Given the description of an element on the screen output the (x, y) to click on. 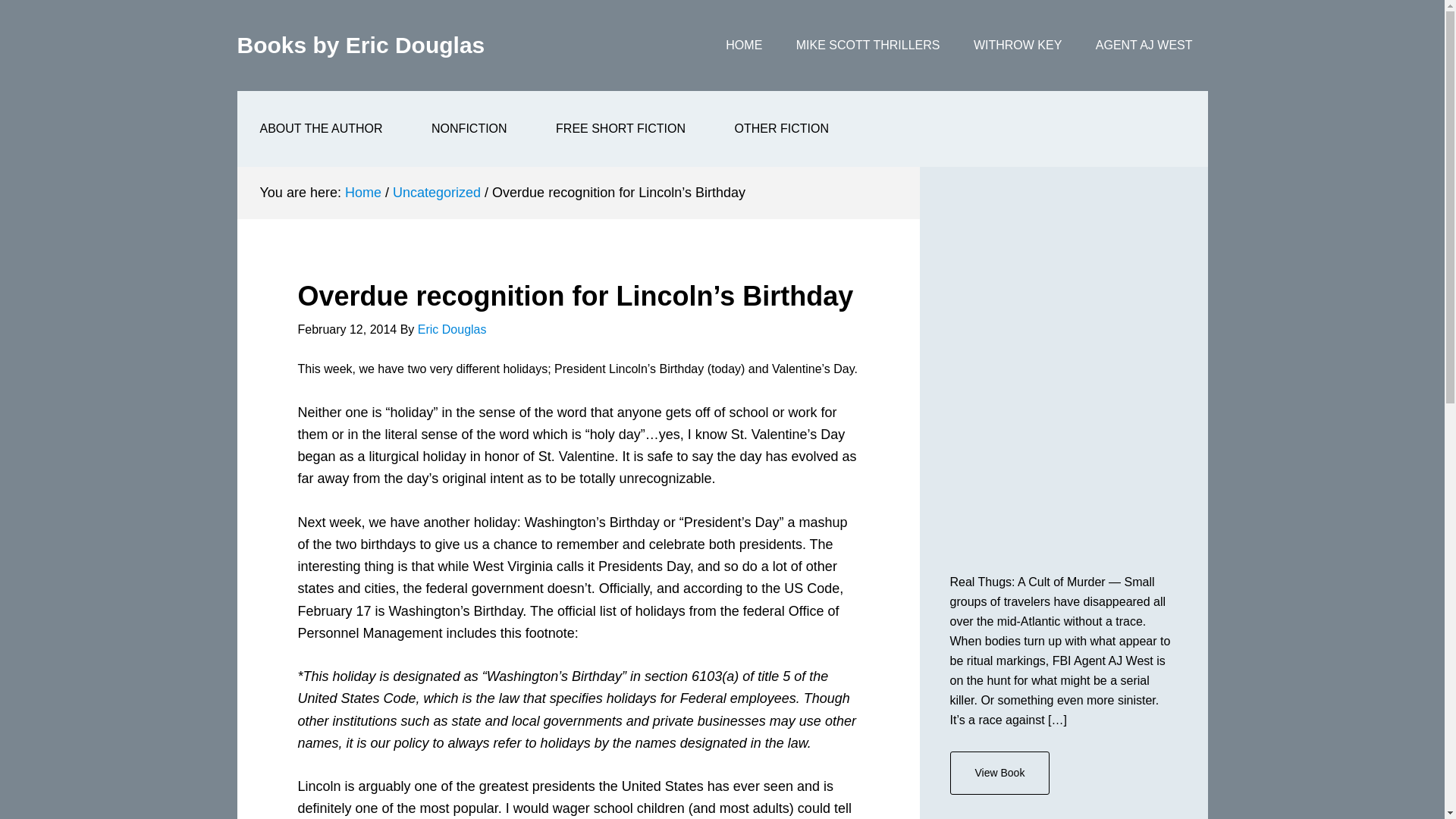
WITHROW KEY (1017, 45)
FREE SHORT FICTION (619, 128)
OTHER FICTION (780, 128)
Books by Eric Douglas (359, 44)
ABOUT THE AUTHOR (319, 128)
MIKE SCOTT THRILLERS (867, 45)
NONFICTION (469, 128)
AGENT AJ WEST (1144, 45)
